Given the description of an element on the screen output the (x, y) to click on. 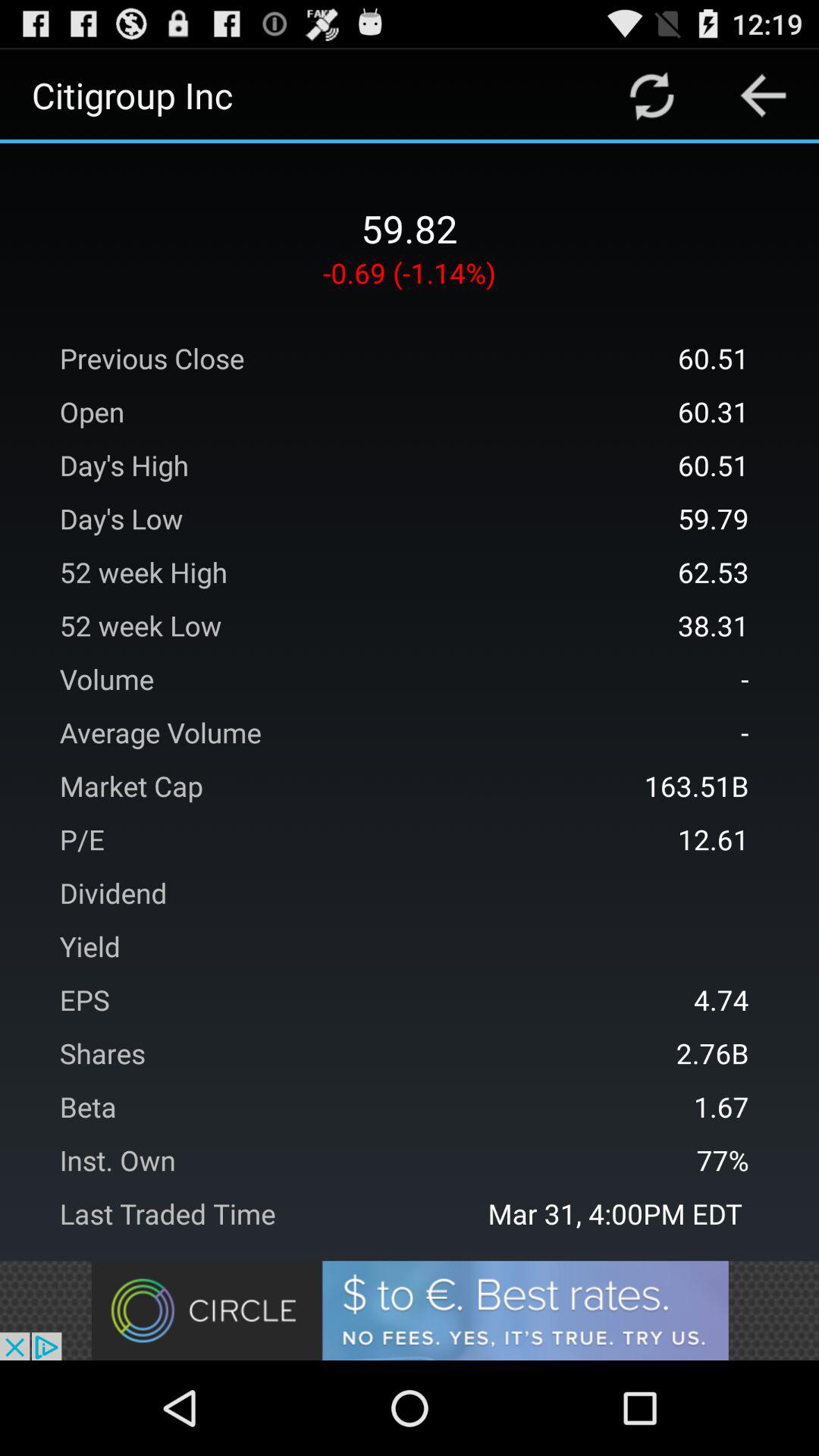
reload icon (651, 95)
